Given the description of an element on the screen output the (x, y) to click on. 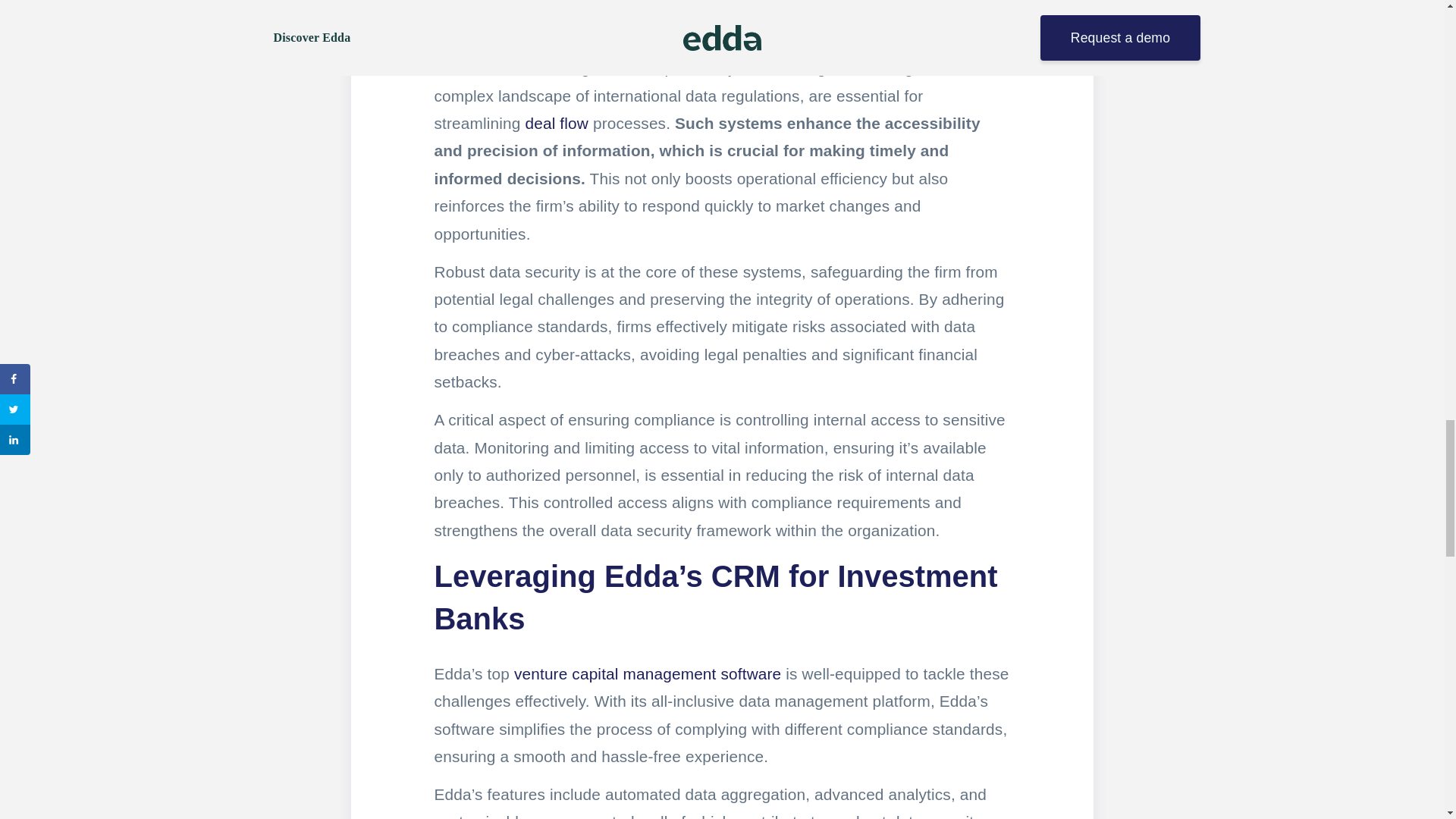
deal flow (556, 122)
venture capital management software (646, 673)
